Given the description of an element on the screen output the (x, y) to click on. 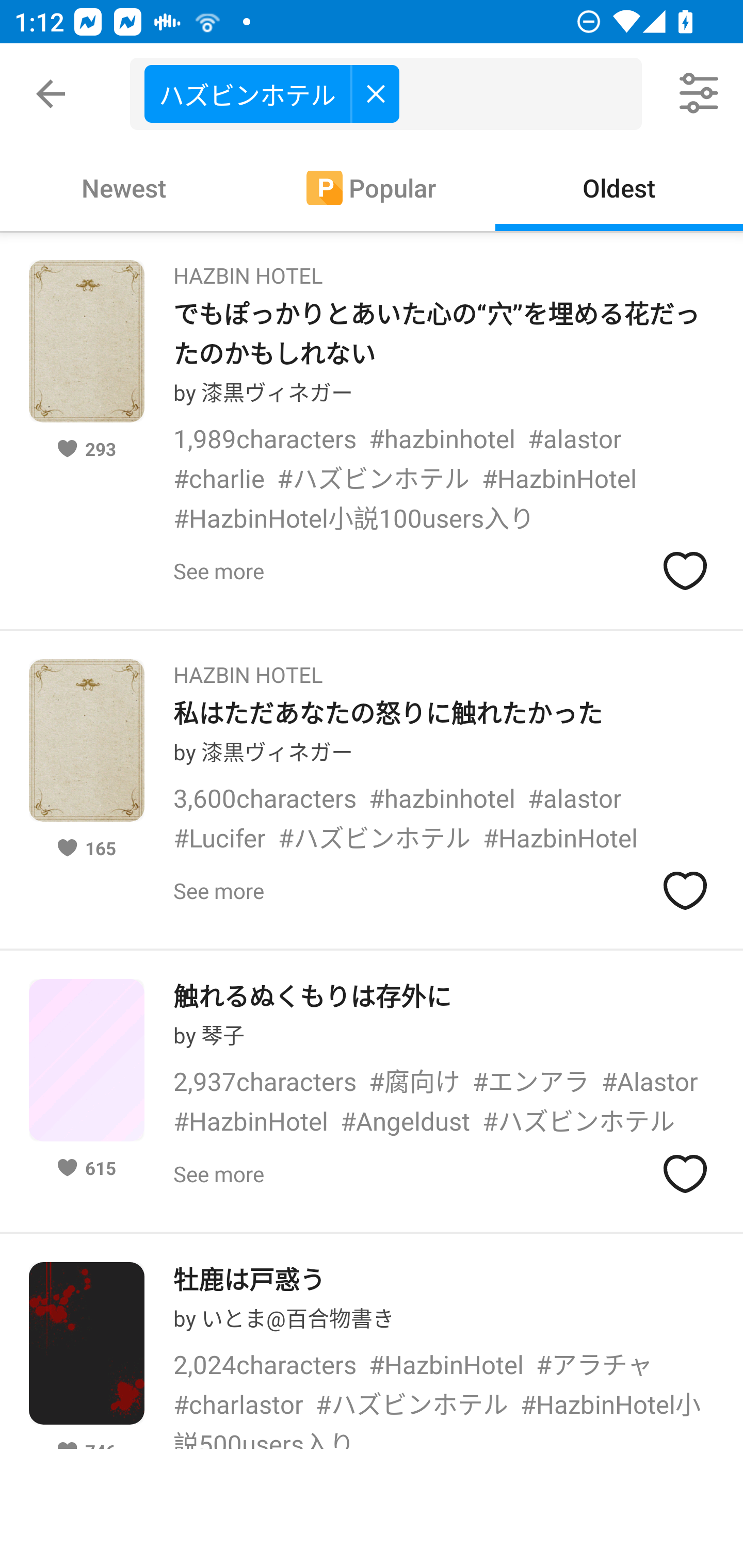
Navigate up (50, 93)
Filters (699, 93)
ハズビンホテル (271, 93)
Newest (123, 187)
[P] Popular (371, 187)
HAZBIN HOTEL (248, 269)
HAZBIN HOTEL (248, 668)
